Given the description of an element on the screen output the (x, y) to click on. 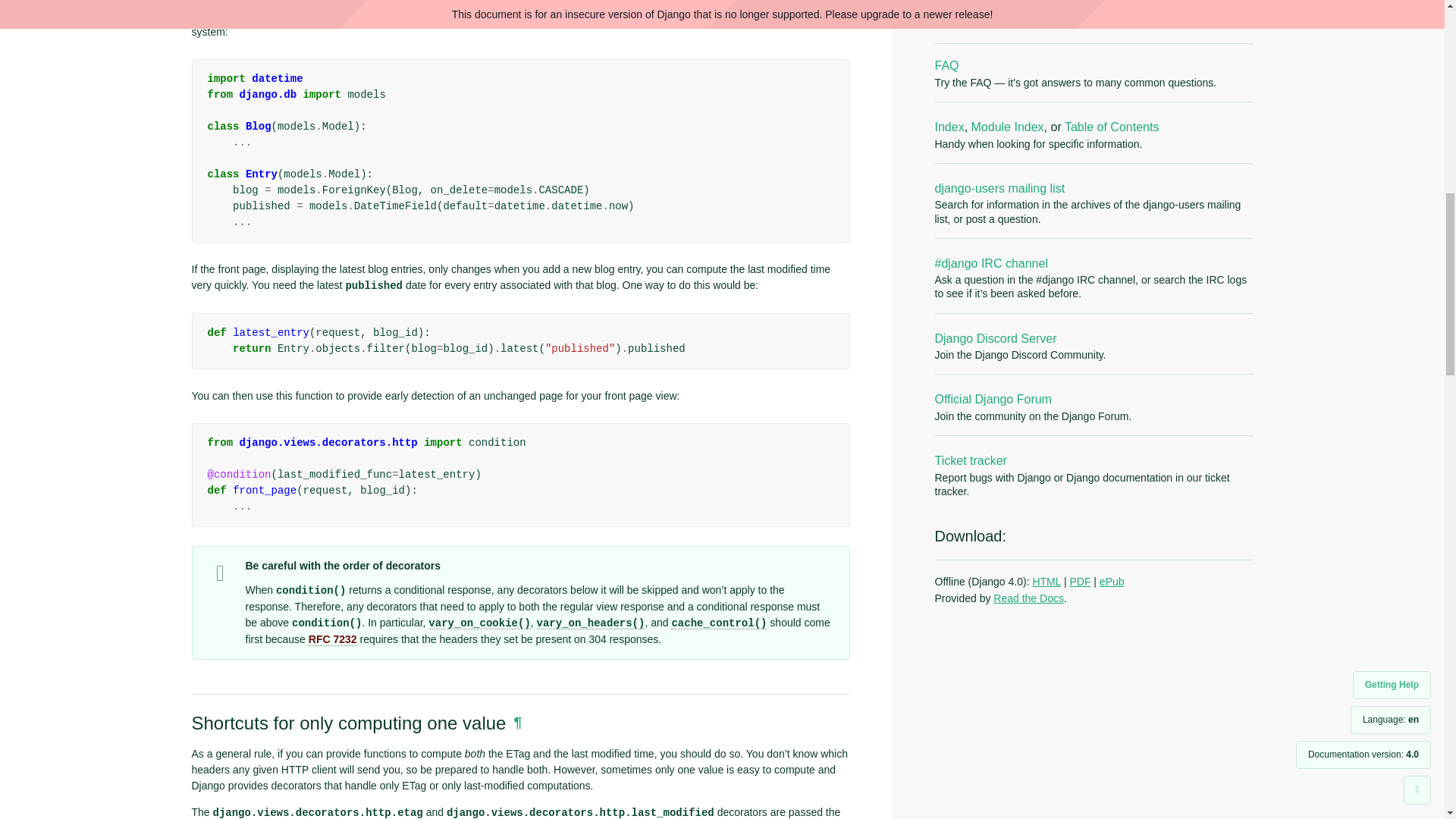
Permalink to this headline (517, 722)
